Given the description of an element on the screen output the (x, y) to click on. 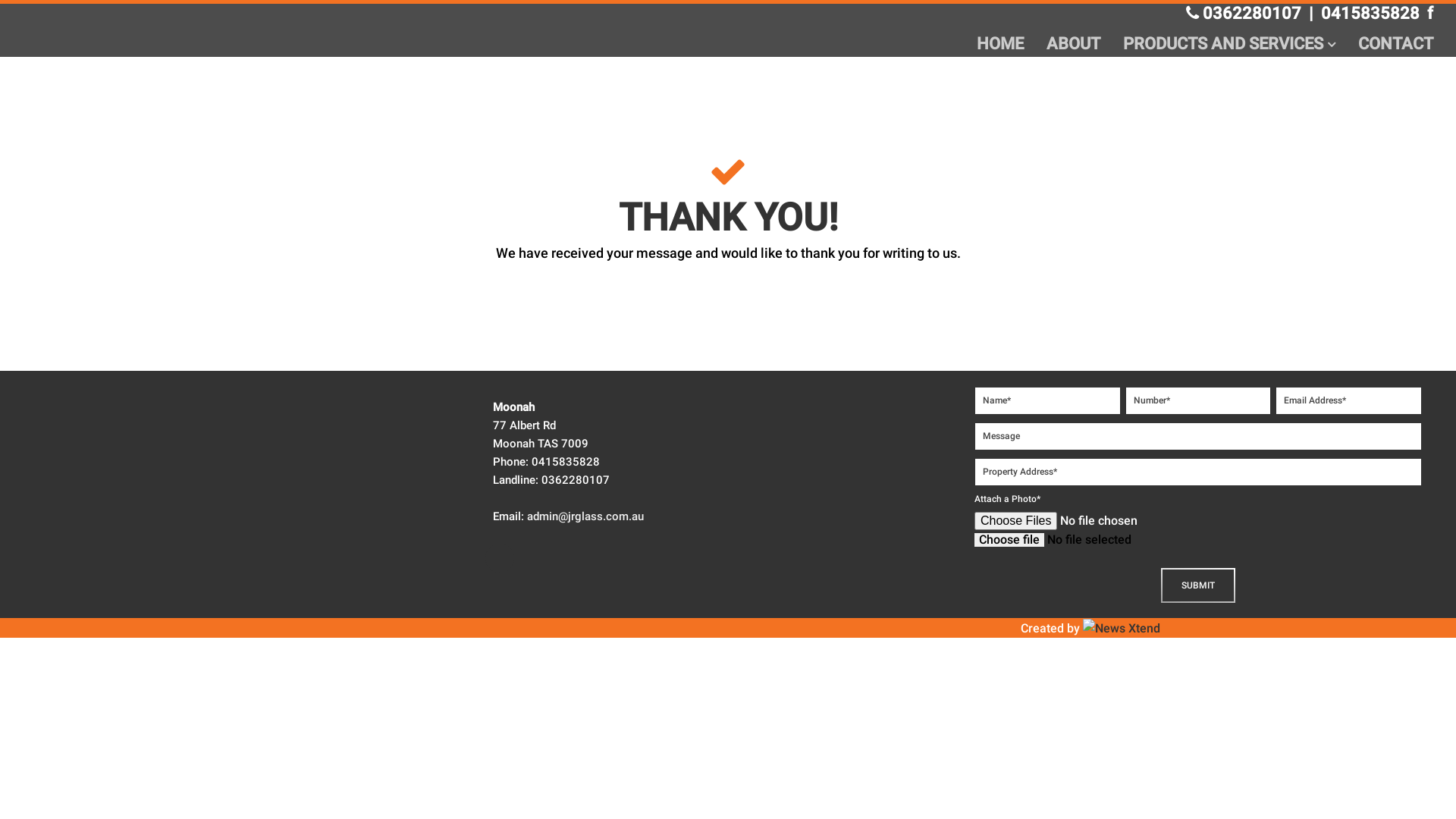
Choose file Element type: text (1009, 539)
admin@jrglass.com.au Element type: text (585, 516)
PRODUCTS AND SERVICES Element type: text (1229, 44)
Submit Element type: text (1198, 584)
HOME Element type: text (999, 44)
0415835828   Element type: text (1374, 12)
CONTACT Element type: text (1395, 44)
f Element type: text (1430, 12)
ABOUT Element type: text (1073, 44)
